Given the description of an element on the screen output the (x, y) to click on. 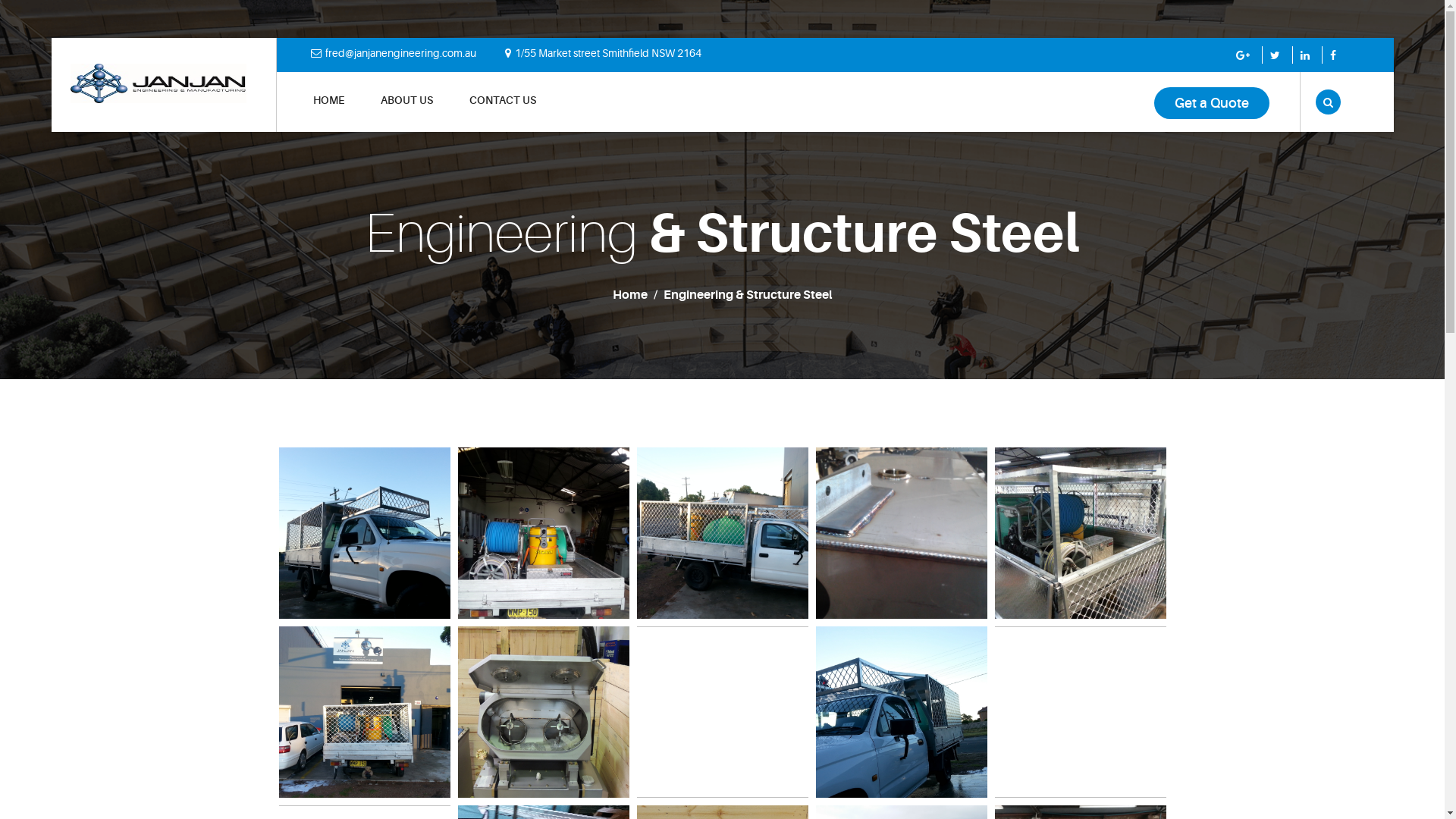
ABOUT US Element type: text (406, 111)
Linkedin Element type: hover (1306, 55)
fred@janjanengineering.com.au Element type: text (407, 52)
Twitter Element type: hover (1276, 55)
Google Plus Element type: hover (1245, 55)
1/55 Market street Smithfield NSW 2164 Element type: text (617, 52)
Facebook Element type: hover (1335, 55)
HOME Element type: text (327, 111)
Home Element type: text (629, 294)
CONTACT US Element type: text (501, 111)
Get a Quote Element type: text (1211, 103)
